Given the description of an element on the screen output the (x, y) to click on. 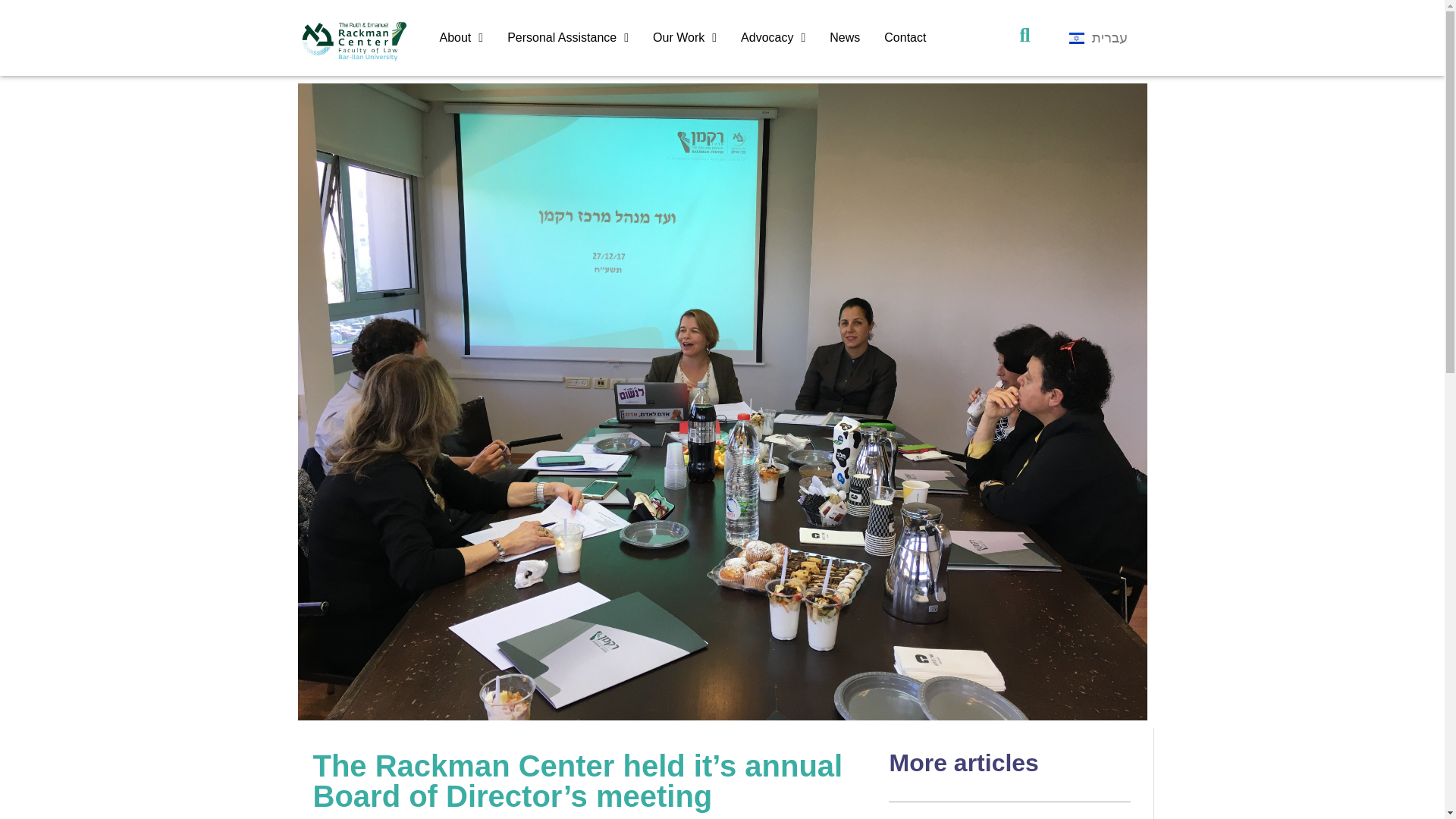
Personal Assistance (567, 37)
About (462, 37)
Advocacy (772, 37)
News (844, 37)
Our Work (684, 37)
Contact (904, 37)
